Given the description of an element on the screen output the (x, y) to click on. 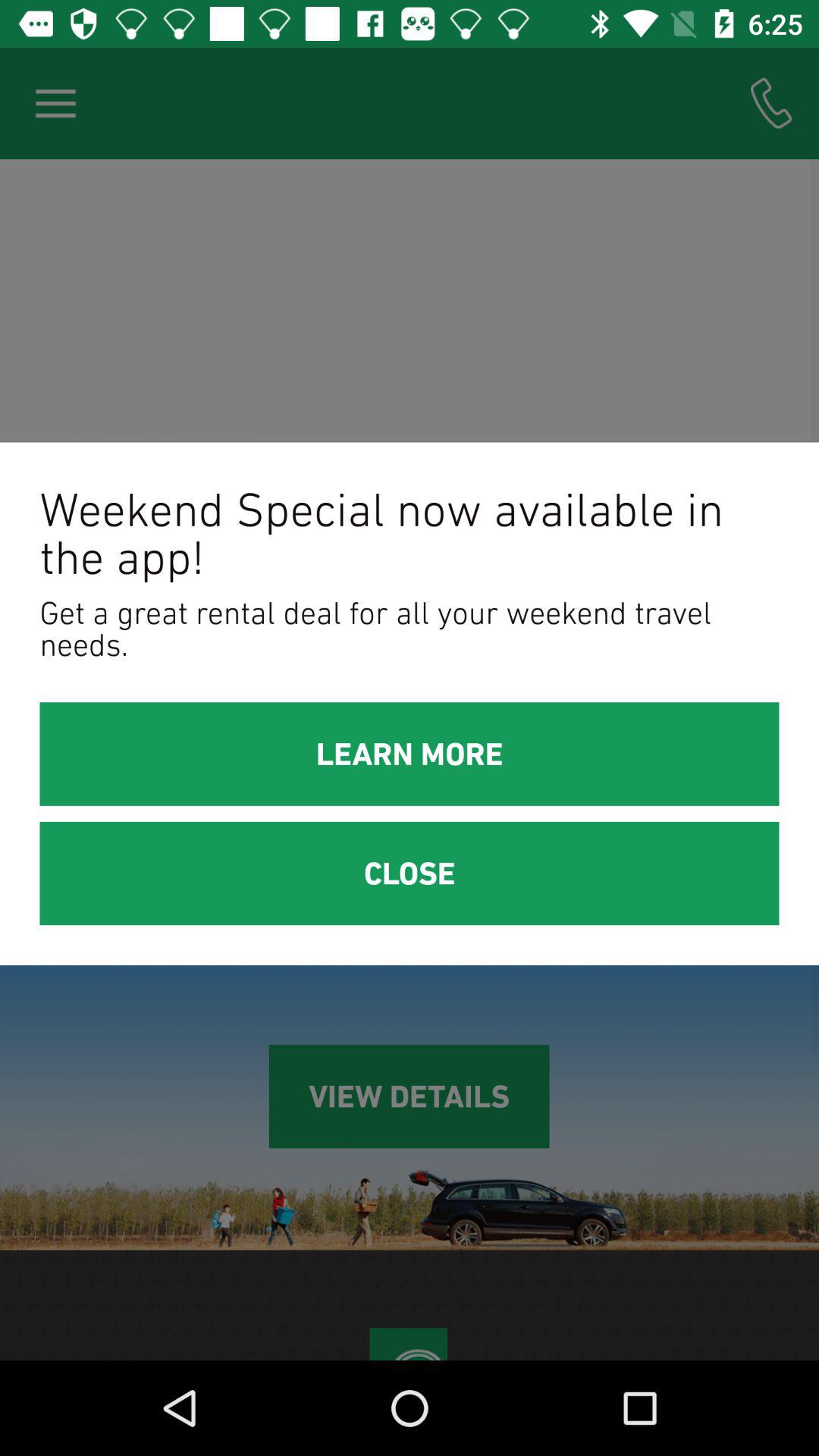
choose icon above the close item (409, 753)
